Given the description of an element on the screen output the (x, y) to click on. 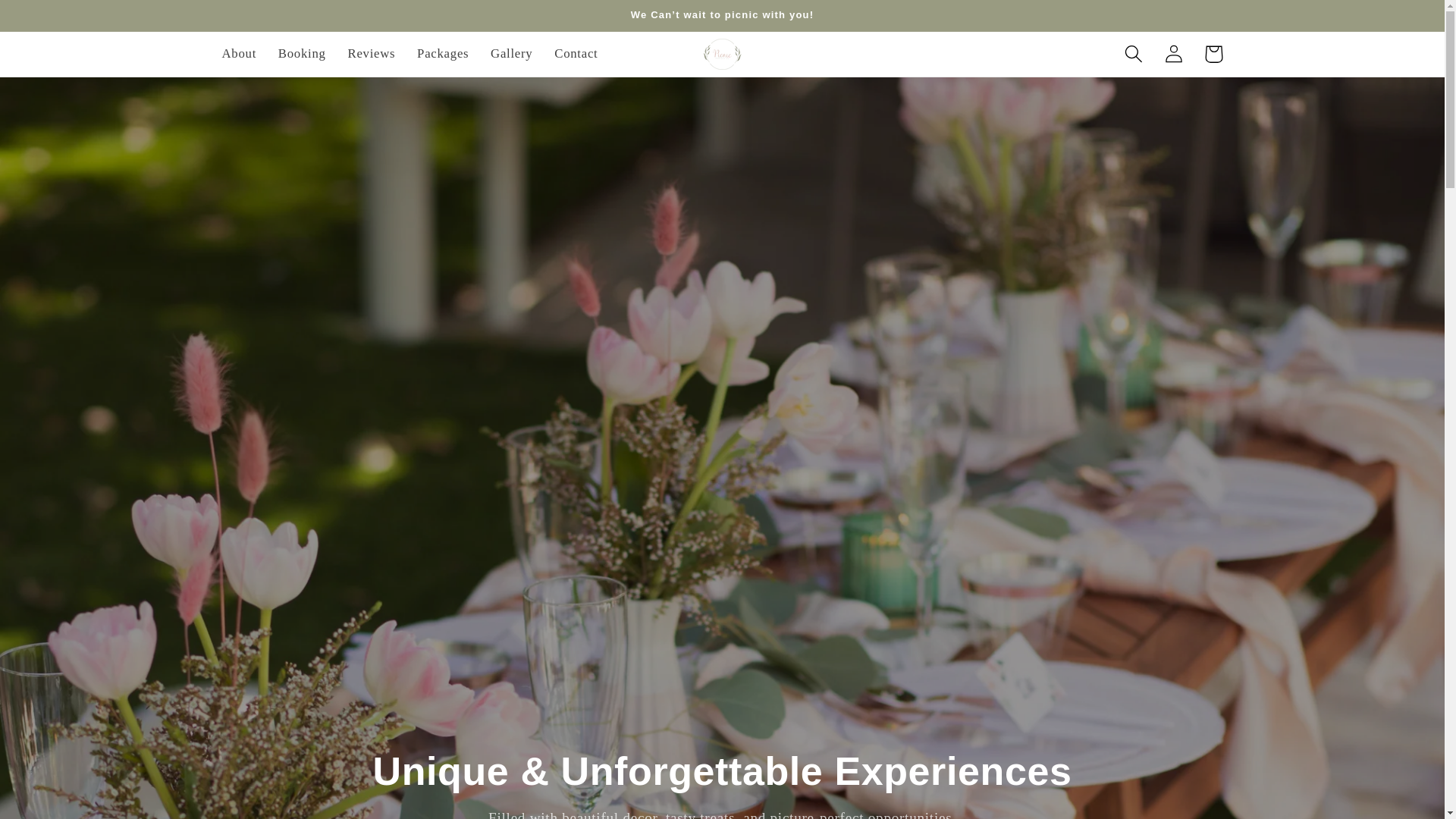
Packages (443, 53)
Booking (301, 53)
Contact (575, 53)
Reviews (371, 53)
Skip to content (55, 20)
Log in (1173, 54)
About (238, 53)
Gallery (511, 53)
Cart (1213, 54)
